Given the description of an element on the screen output the (x, y) to click on. 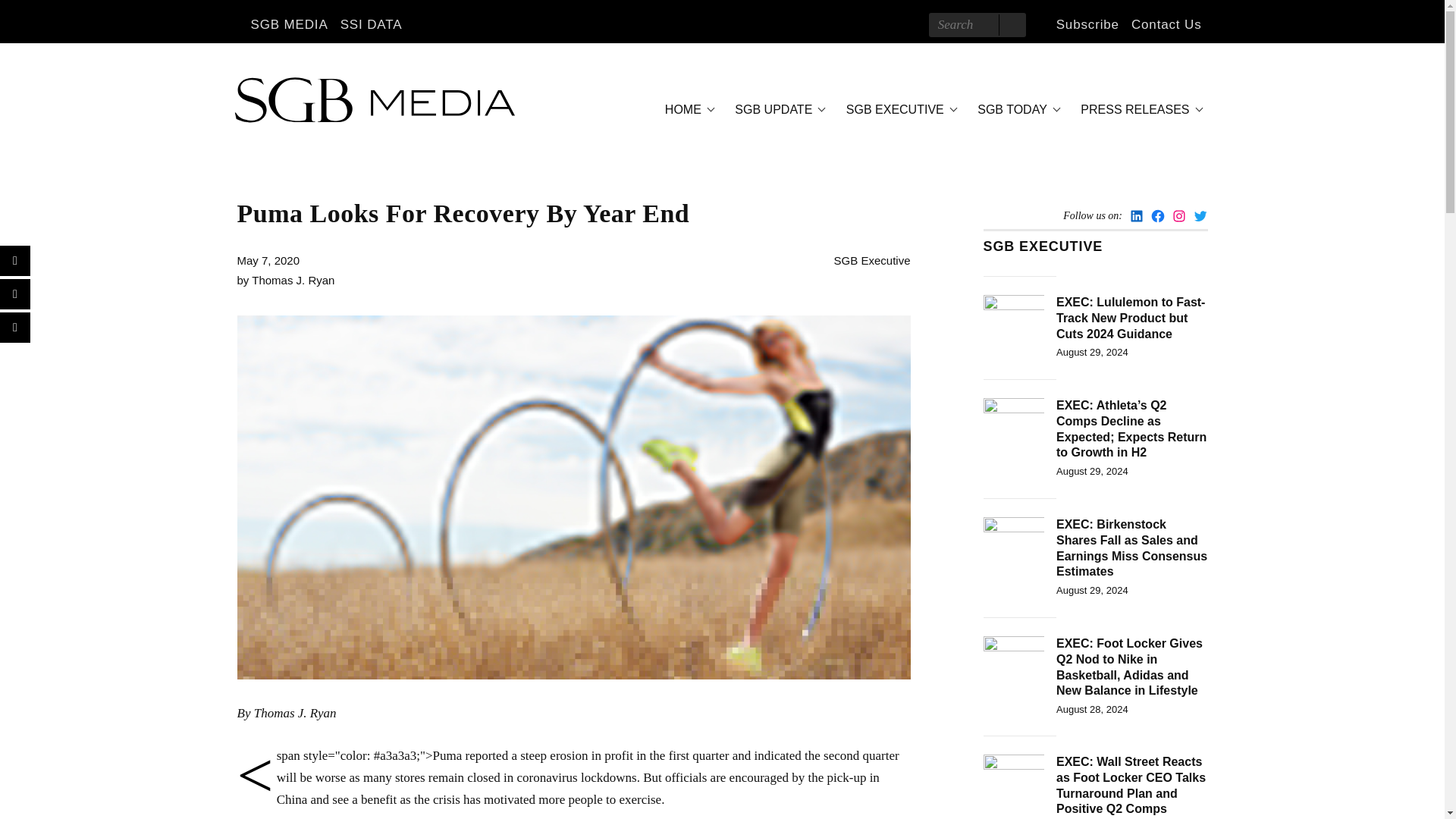
SGB UPDATE (777, 109)
SGB EXECUTIVE (899, 109)
SGB Executive (872, 259)
SGB TODAY (1016, 109)
Posts by Thomas J. Ryan (292, 279)
HOME (687, 109)
SGB MEDIA (288, 24)
PRESS RELEASES (1139, 109)
SSI DATA (371, 24)
Search for: (977, 24)
